Given the description of an element on the screen output the (x, y) to click on. 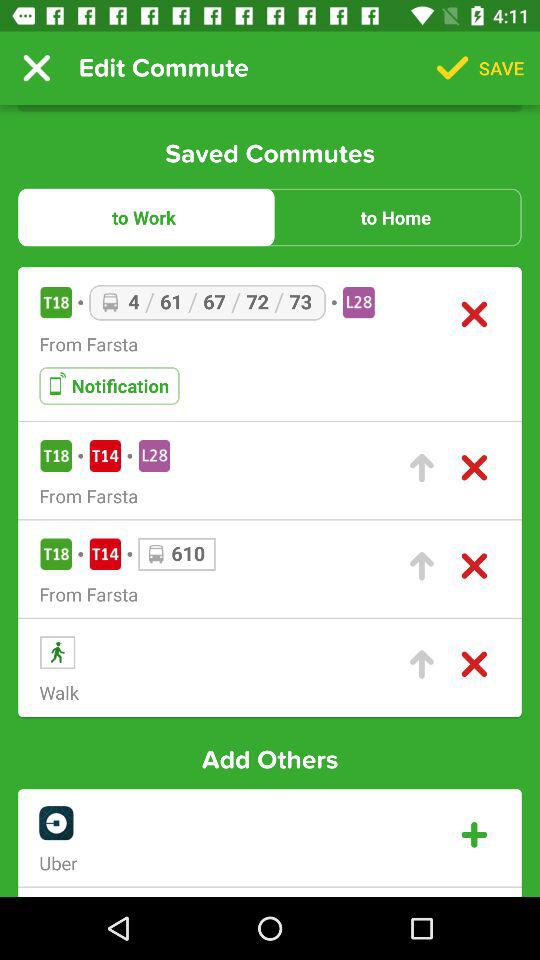
reject option (474, 664)
